Given the description of an element on the screen output the (x, y) to click on. 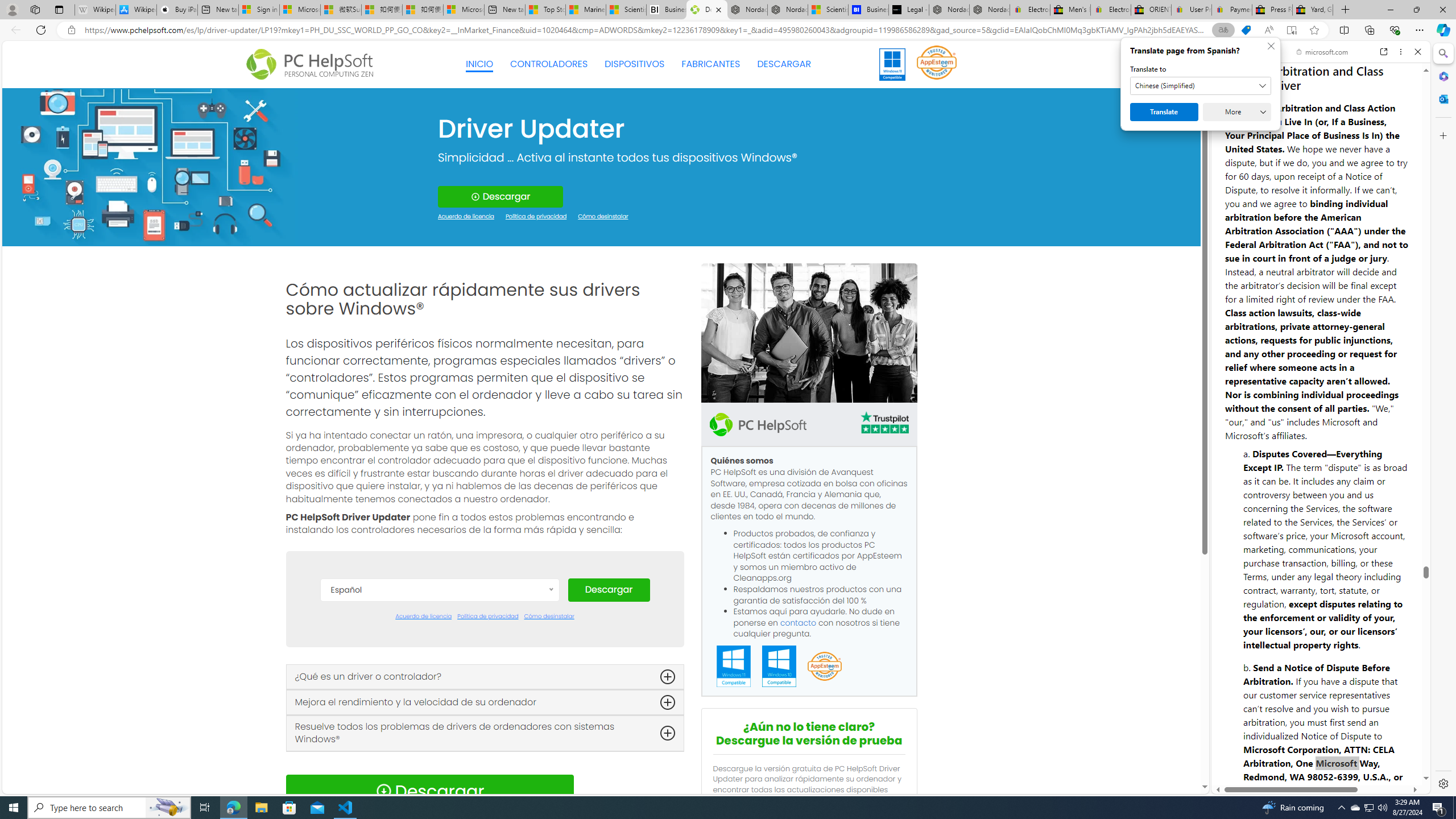
Norsk (439, 780)
Translate (1163, 112)
Microsoft account | Account Checkup (463, 9)
Sign in to your Microsoft account (258, 9)
Italiano (439, 746)
Yard, Garden & Outdoor Living (1312, 9)
team (808, 332)
